Given the description of an element on the screen output the (x, y) to click on. 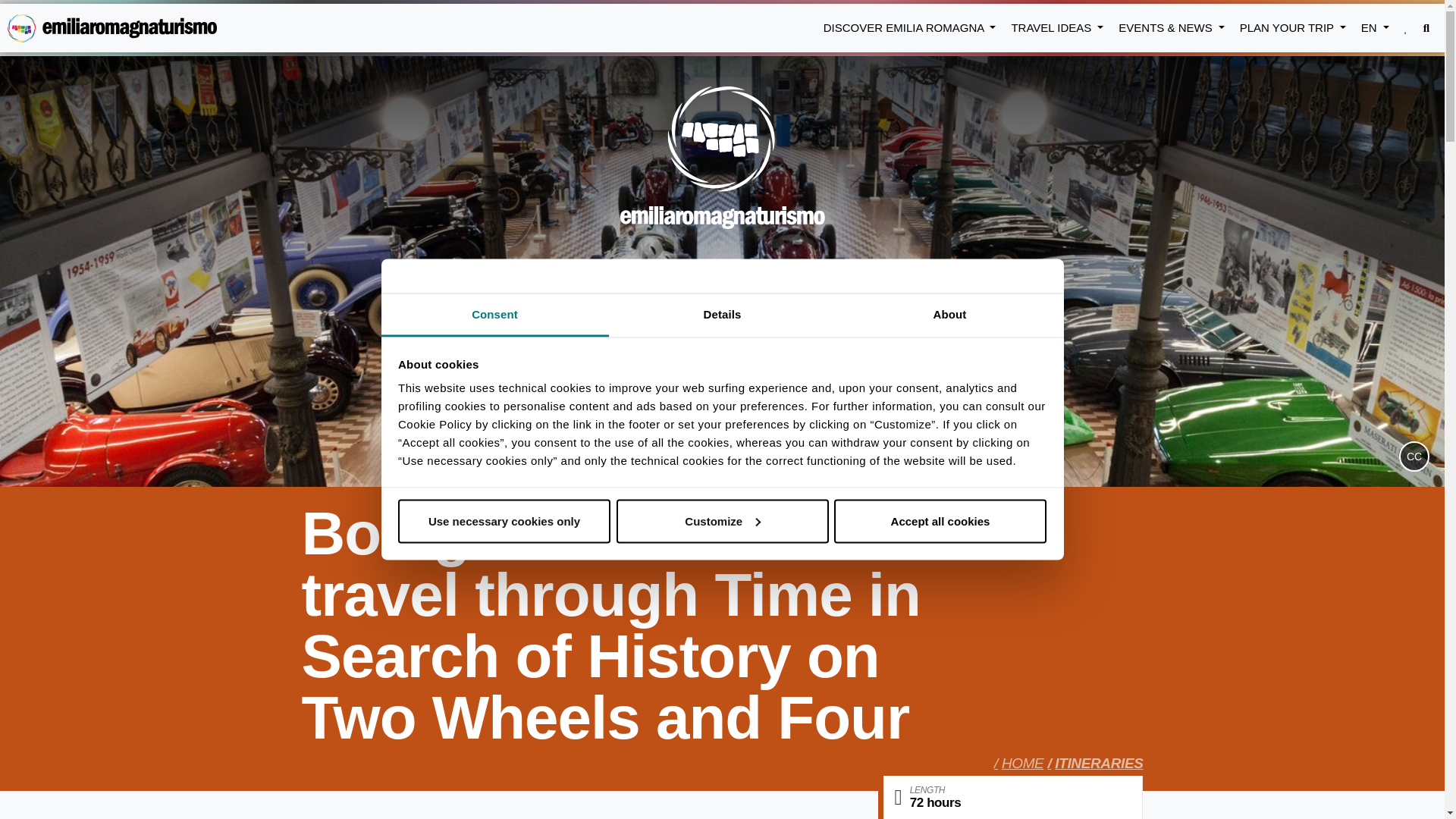
Details (721, 315)
Use necessary cookies only (503, 520)
Customize (721, 520)
Consent (494, 315)
Favorites (1406, 27)
About (948, 315)
